Given the description of an element on the screen output the (x, y) to click on. 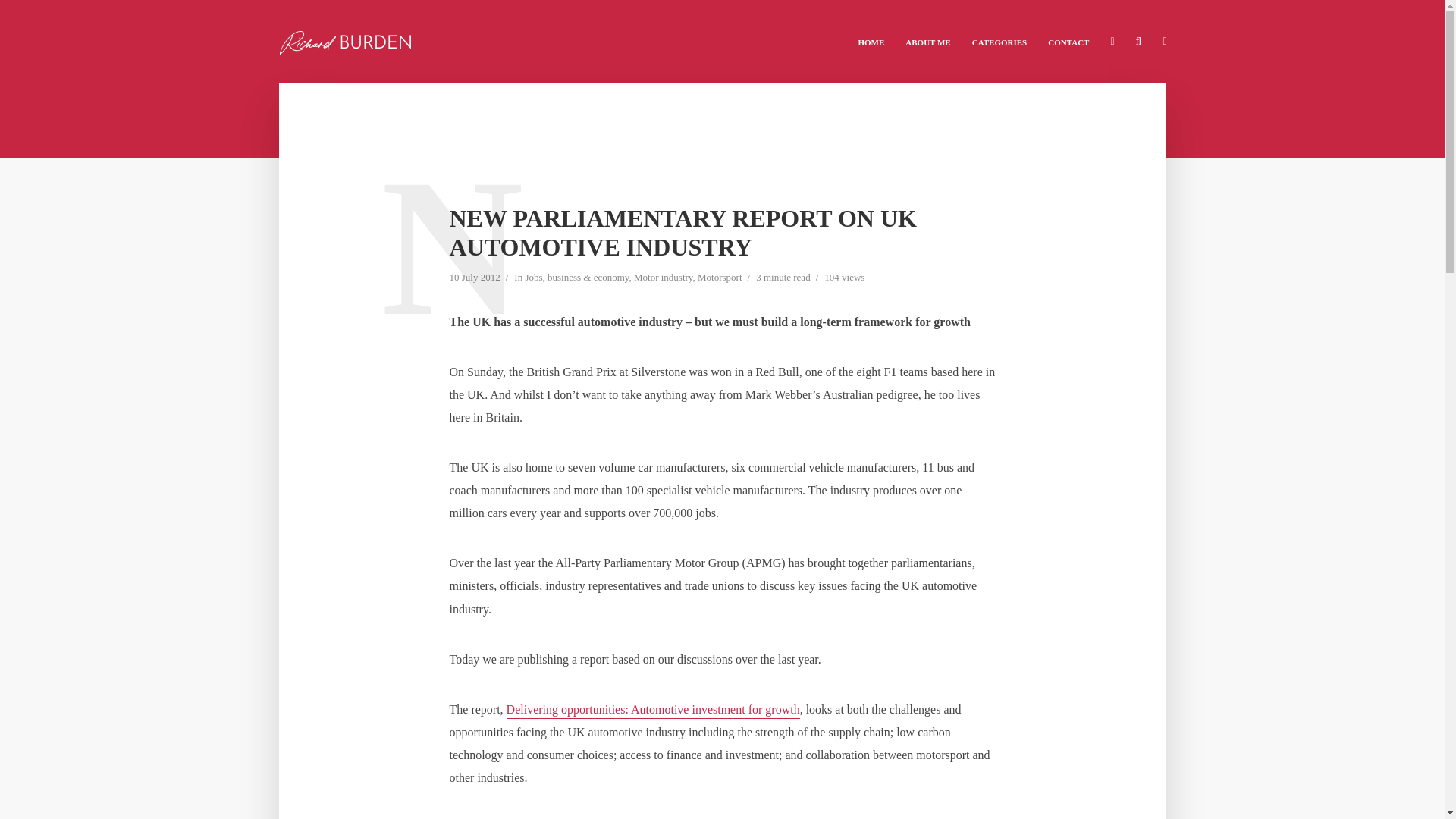
HOME (871, 41)
ABOUT ME (927, 41)
Motorsport (719, 278)
Motor industry (663, 278)
CATEGORIES (999, 41)
CONTACT (1067, 41)
Delivering opportunities: Automotive investment for growth (652, 710)
APMG Report 2012 (652, 710)
